Given the description of an element on the screen output the (x, y) to click on. 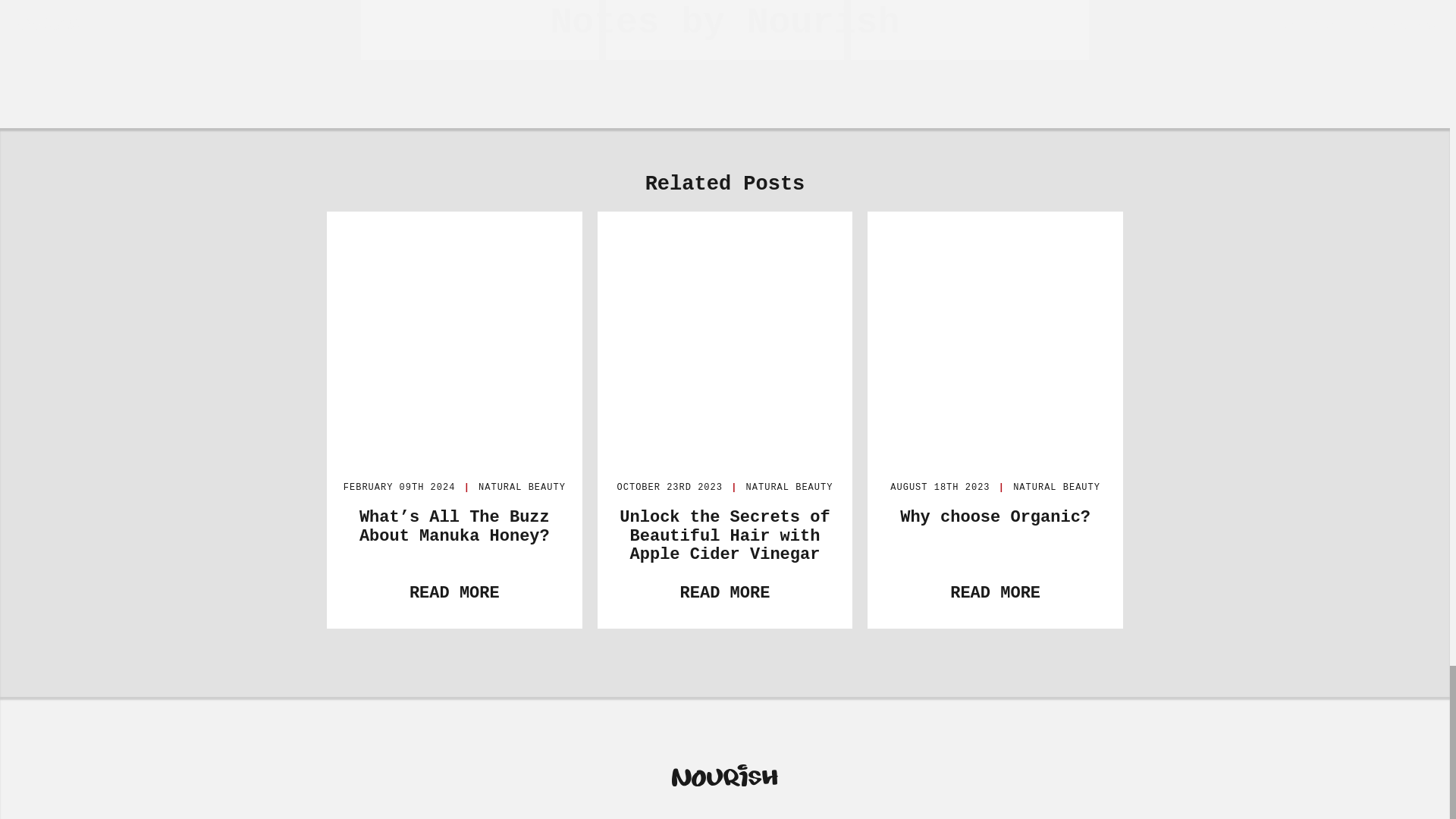
nourish-logo-white (724, 794)
nourish-logo-white (724, 780)
